Given the description of an element on the screen output the (x, y) to click on. 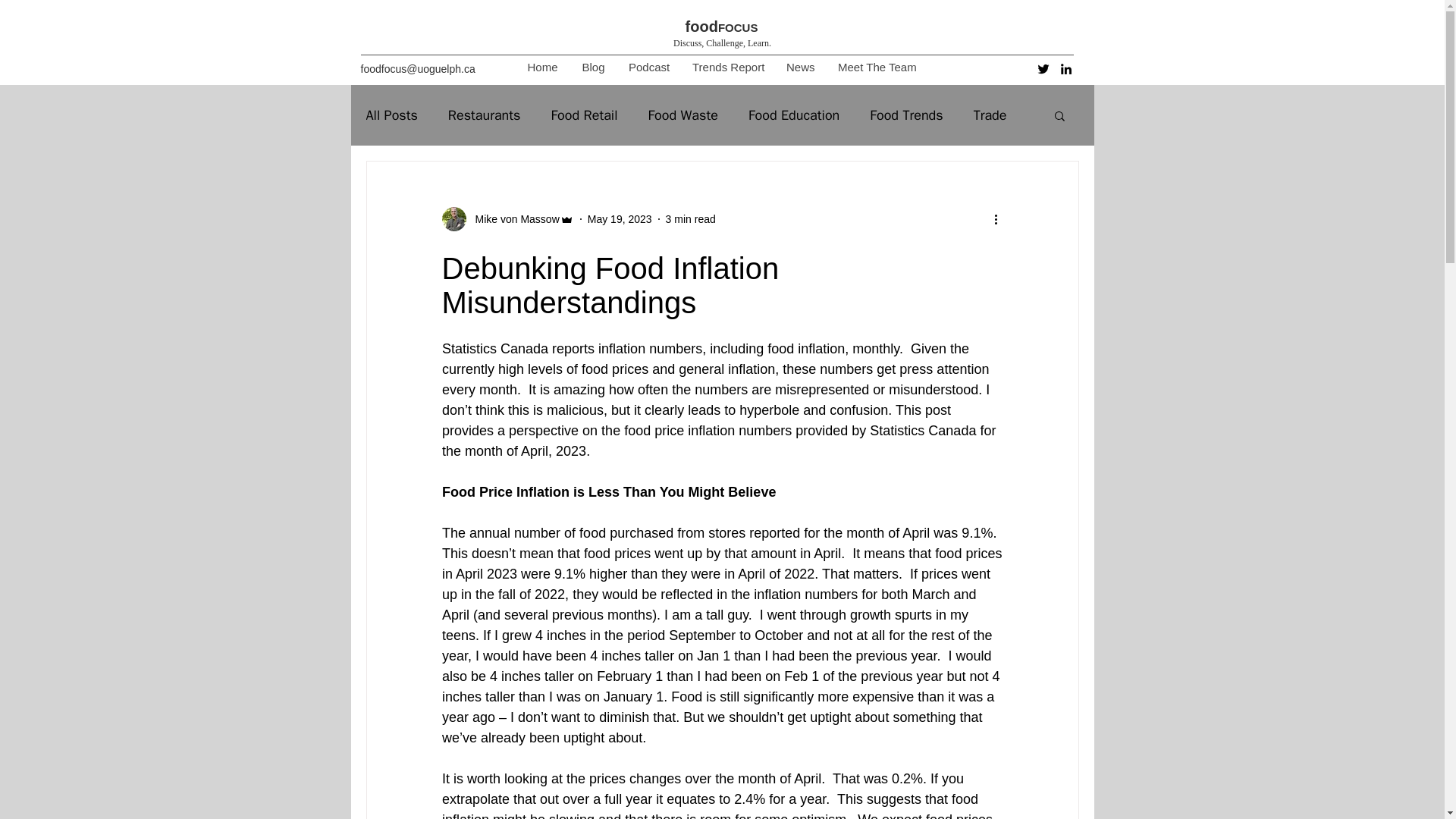
Mike von Massow (512, 219)
Food Education (794, 115)
Podcast (647, 67)
News (799, 67)
May 19, 2023 (620, 218)
Home (542, 67)
Restaurants (484, 115)
3 min read (690, 218)
Trends Report (726, 67)
Meet The Team (876, 67)
food (701, 26)
Food Trends (905, 115)
Trade (990, 115)
Food Waste (682, 115)
Blog (592, 67)
